Given the description of an element on the screen output the (x, y) to click on. 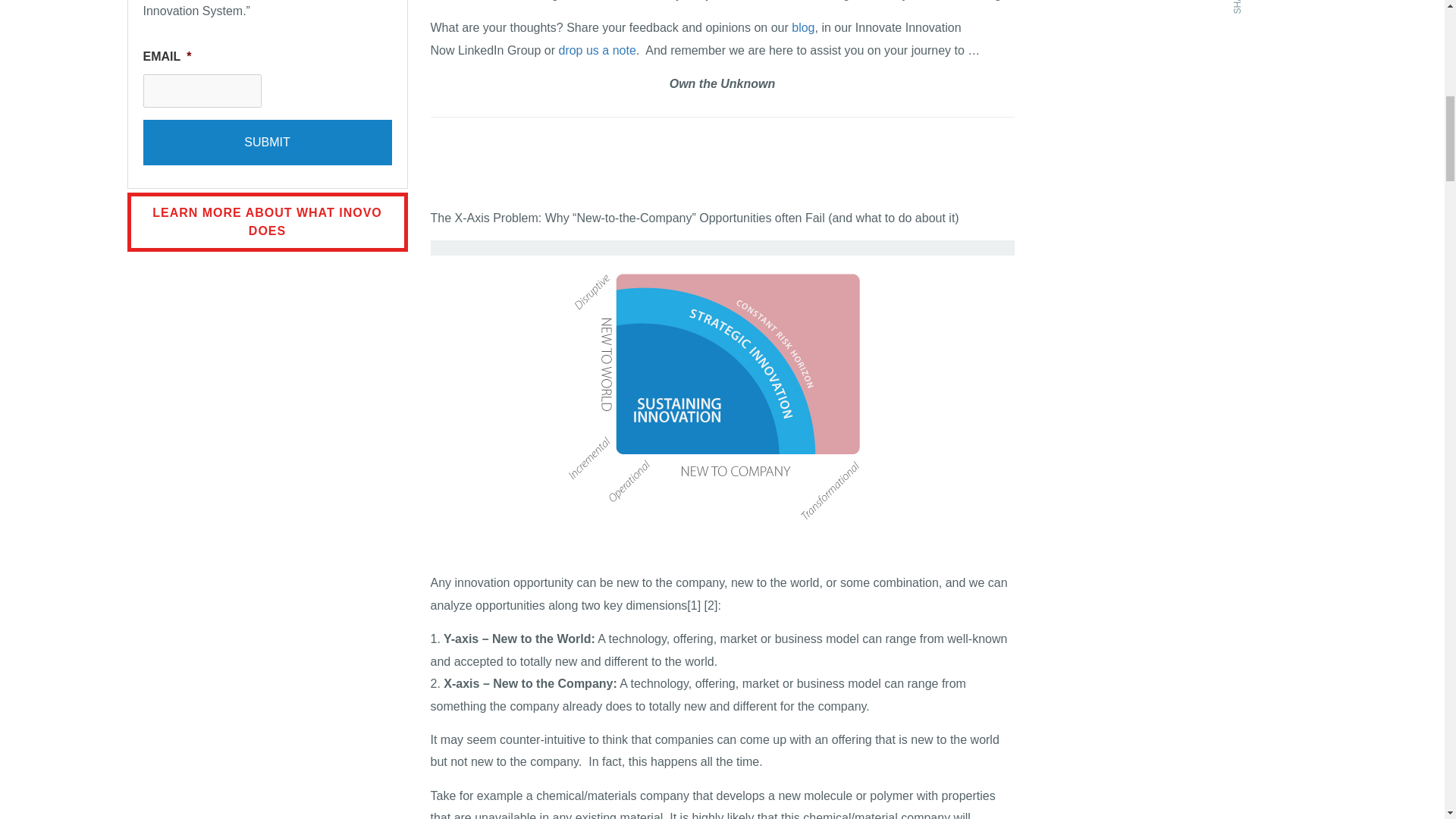
DOWNLOAD (1296, 26)
Submit (266, 142)
